Given the description of an element on the screen output the (x, y) to click on. 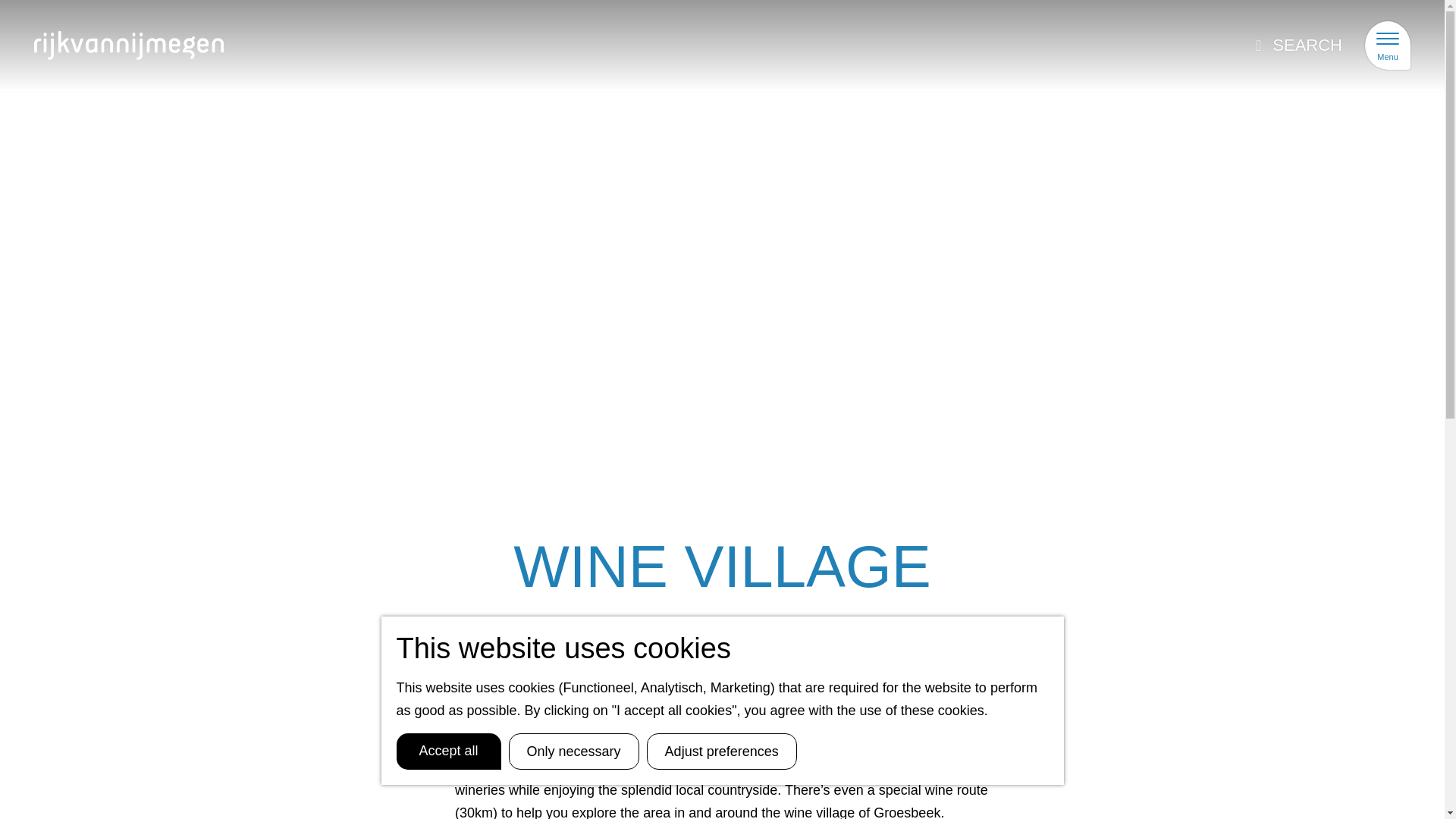
Accept all (448, 751)
Visit Nijmegen (151, 45)
Adjust preferences (721, 751)
Menu (1387, 45)
Only necessary (573, 751)
Menu (1387, 45)
SEARCH (1298, 45)
Visit Nijmegen (151, 45)
